Given the description of an element on the screen output the (x, y) to click on. 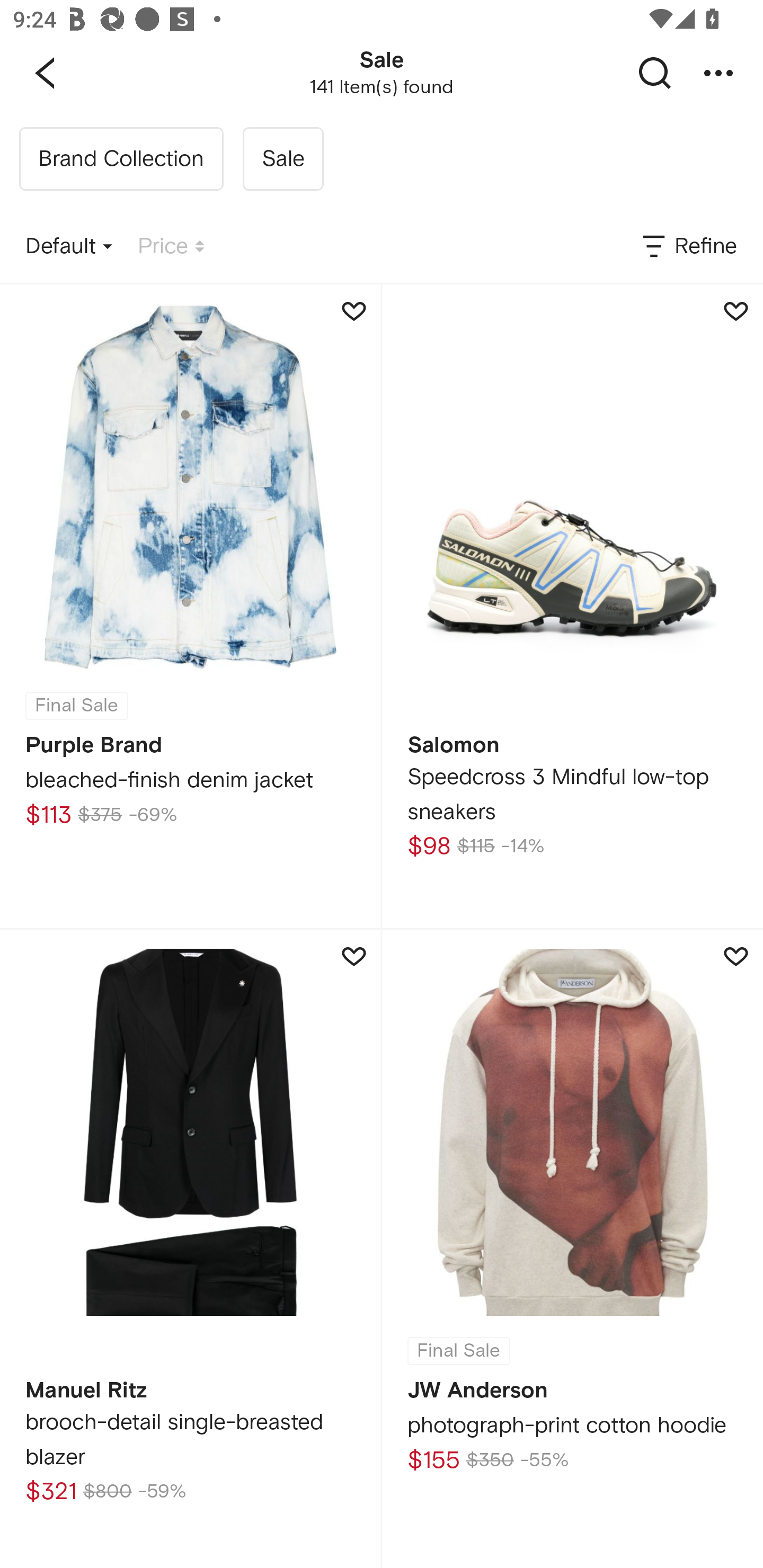
Brand Collection (121, 158)
Sale (282, 158)
Default (68, 246)
Price (171, 246)
Refine (688, 246)
